Given the description of an element on the screen output the (x, y) to click on. 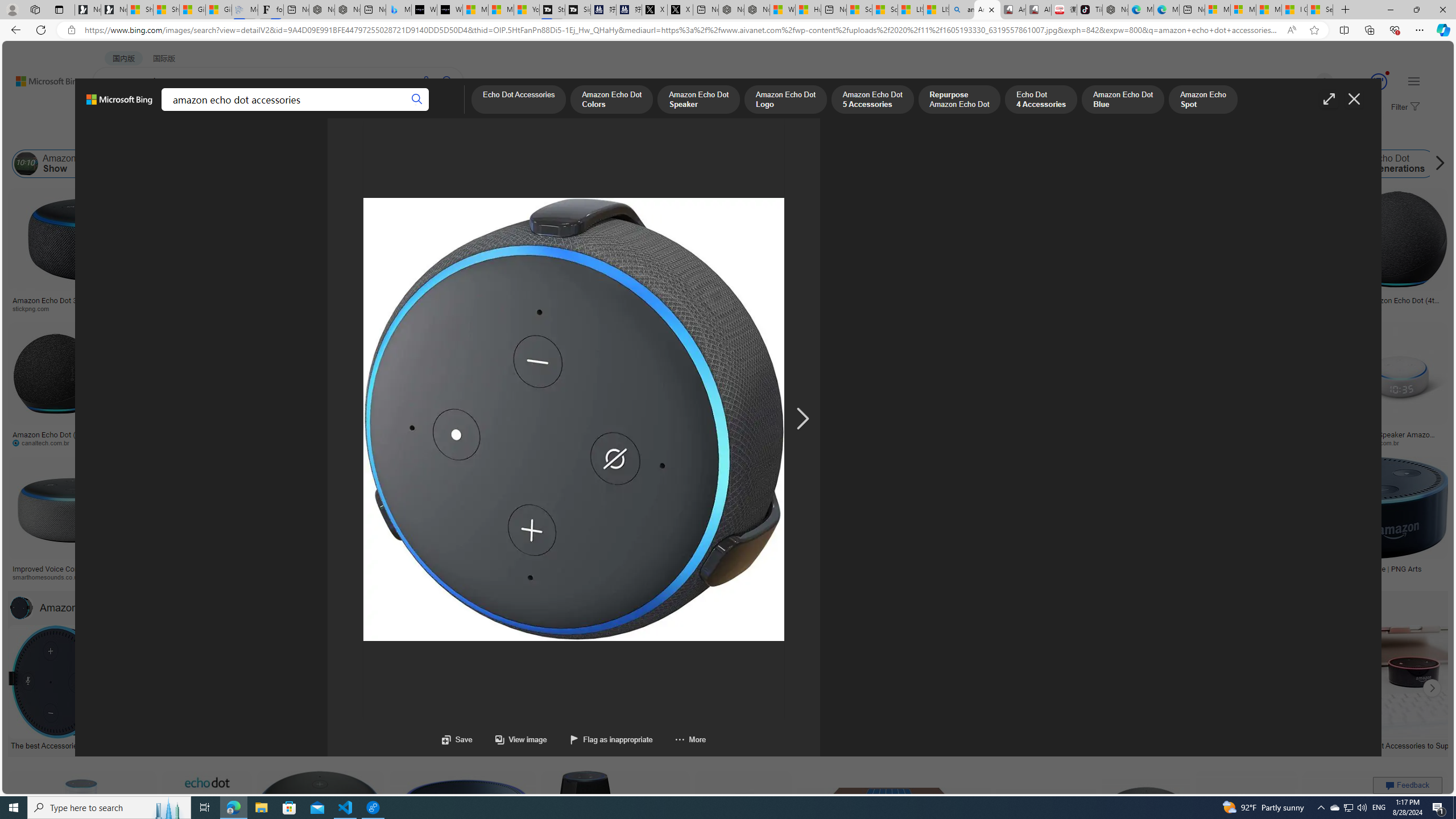
VIDEOS (260, 111)
Amazon Echo Dot 5 Accessories (872, 100)
tpsearchtool.com (1283, 308)
pngkey.com (807, 442)
Microsoft Bing Travel - Shangri-La Hotel Bangkok (398, 9)
Amazon Echo Dot Blue (1122, 100)
